Given the description of an element on the screen output the (x, y) to click on. 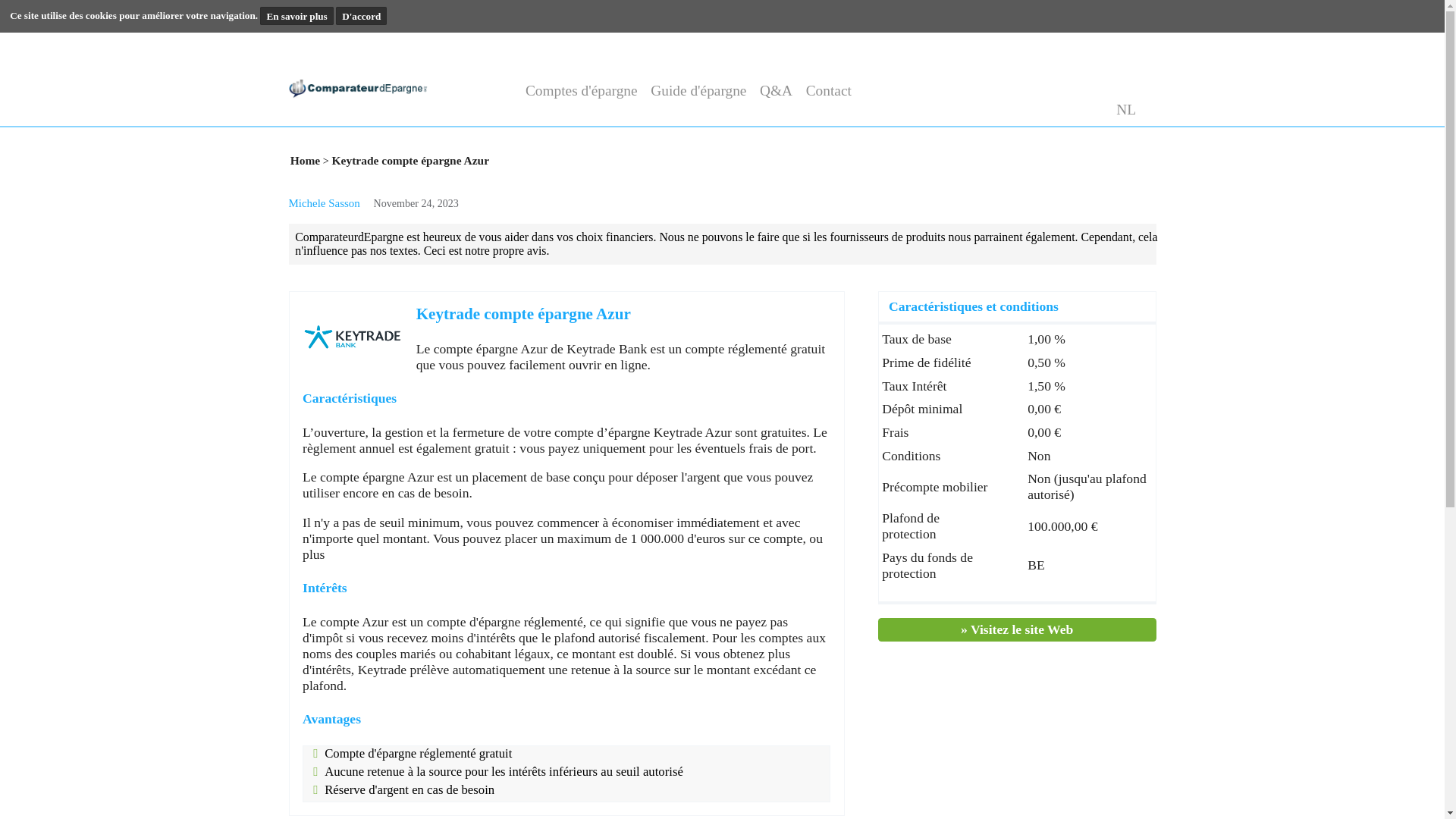
Q&A Element type: text (882, 103)
Home Element type: text (346, 182)
En savoir plus Element type: text (337, 17)
D'accord Element type: text (411, 17)
Contact Element type: text (941, 103)
NL Element type: text (1277, 124)
Michele Sasson Element type: text (369, 230)
